Given the description of an element on the screen output the (x, y) to click on. 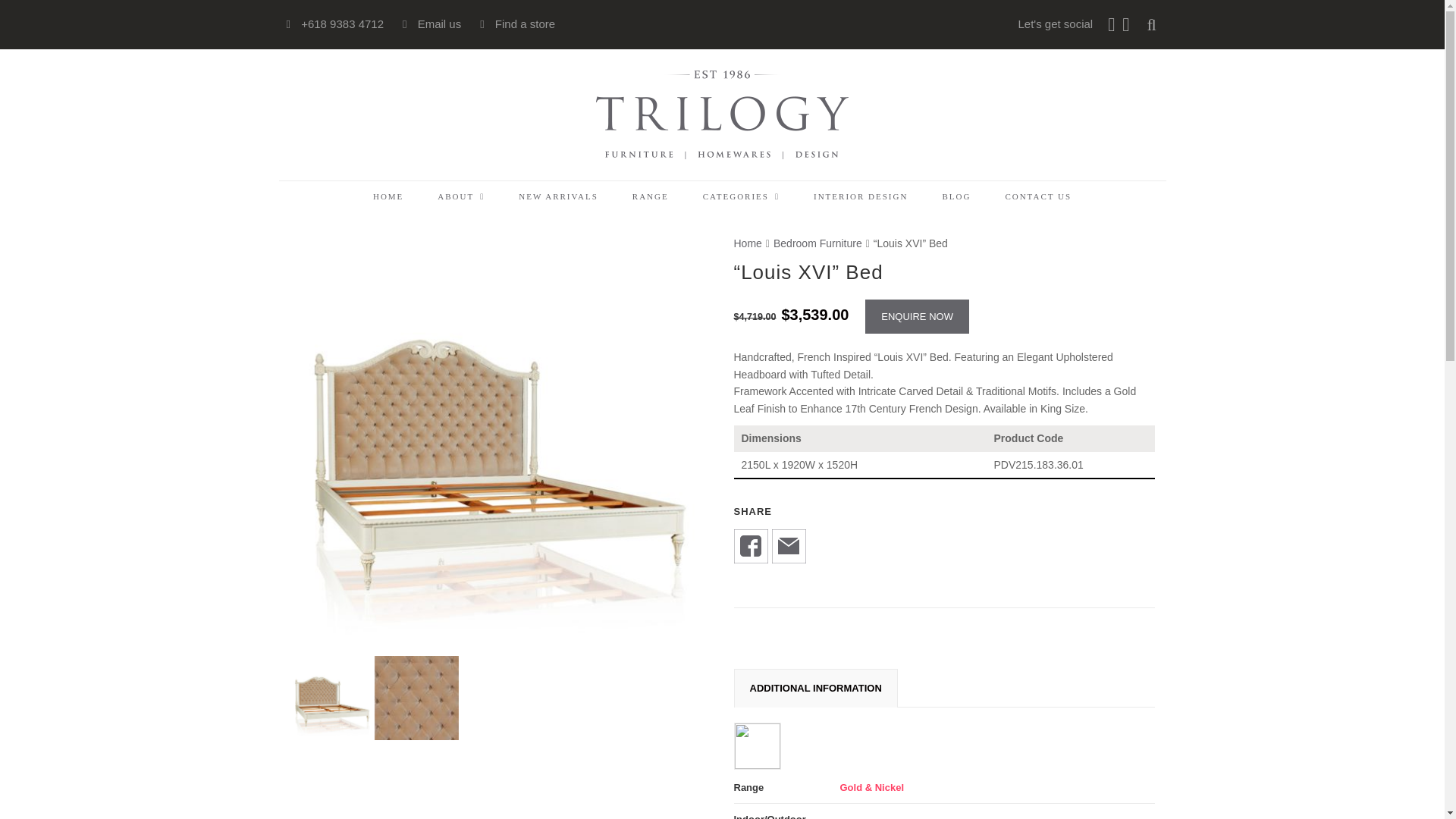
RANGE (649, 196)
CATEGORIES (740, 196)
ABOUT (461, 196)
NEW ARRIVALS (558, 196)
HOME (387, 196)
Find a store (523, 23)
Email us (437, 23)
